Given the description of an element on the screen output the (x, y) to click on. 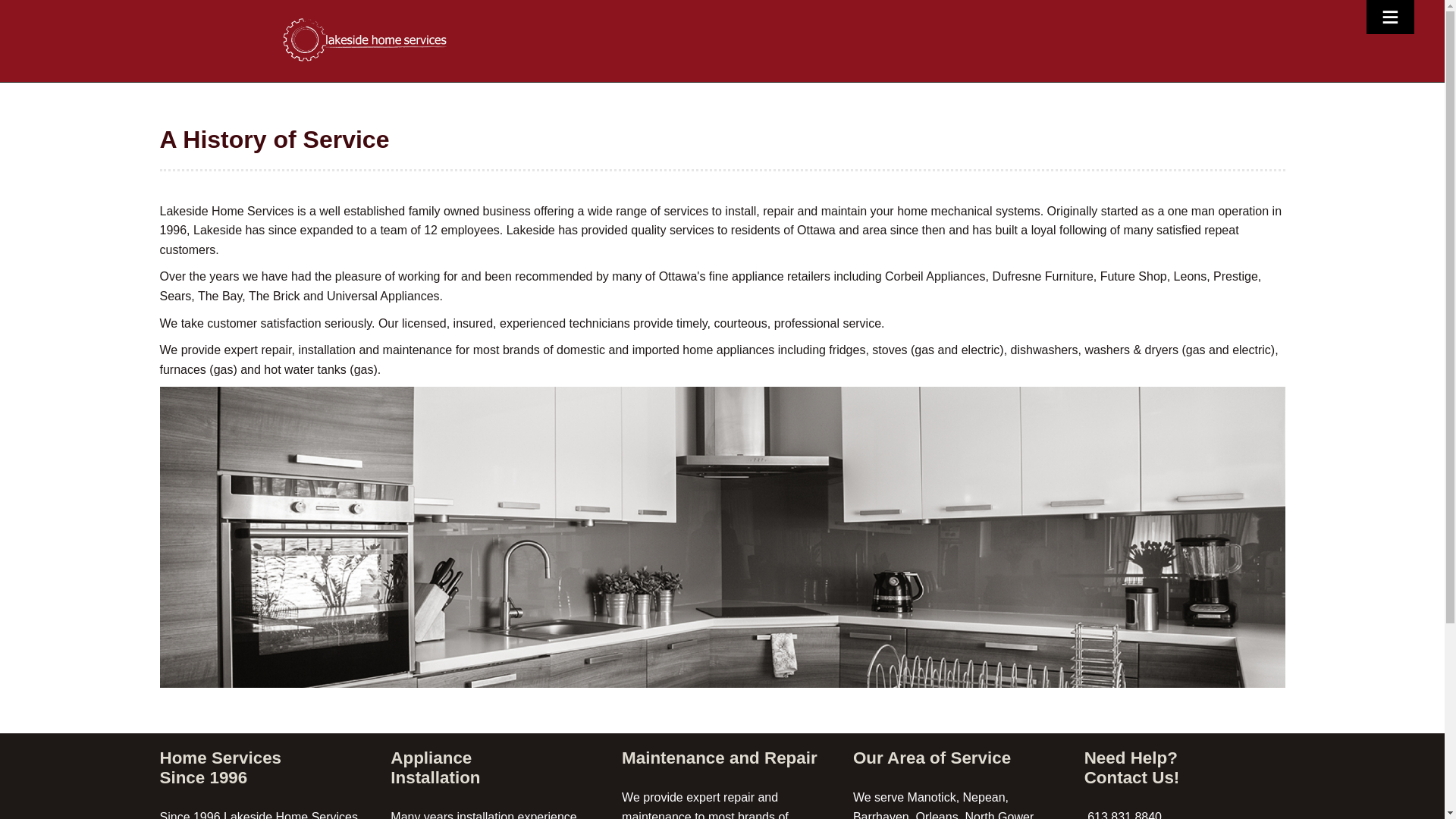
 613.831.8840 (1122, 814)
Go to our home page (365, 39)
